Given the description of an element on the screen output the (x, y) to click on. 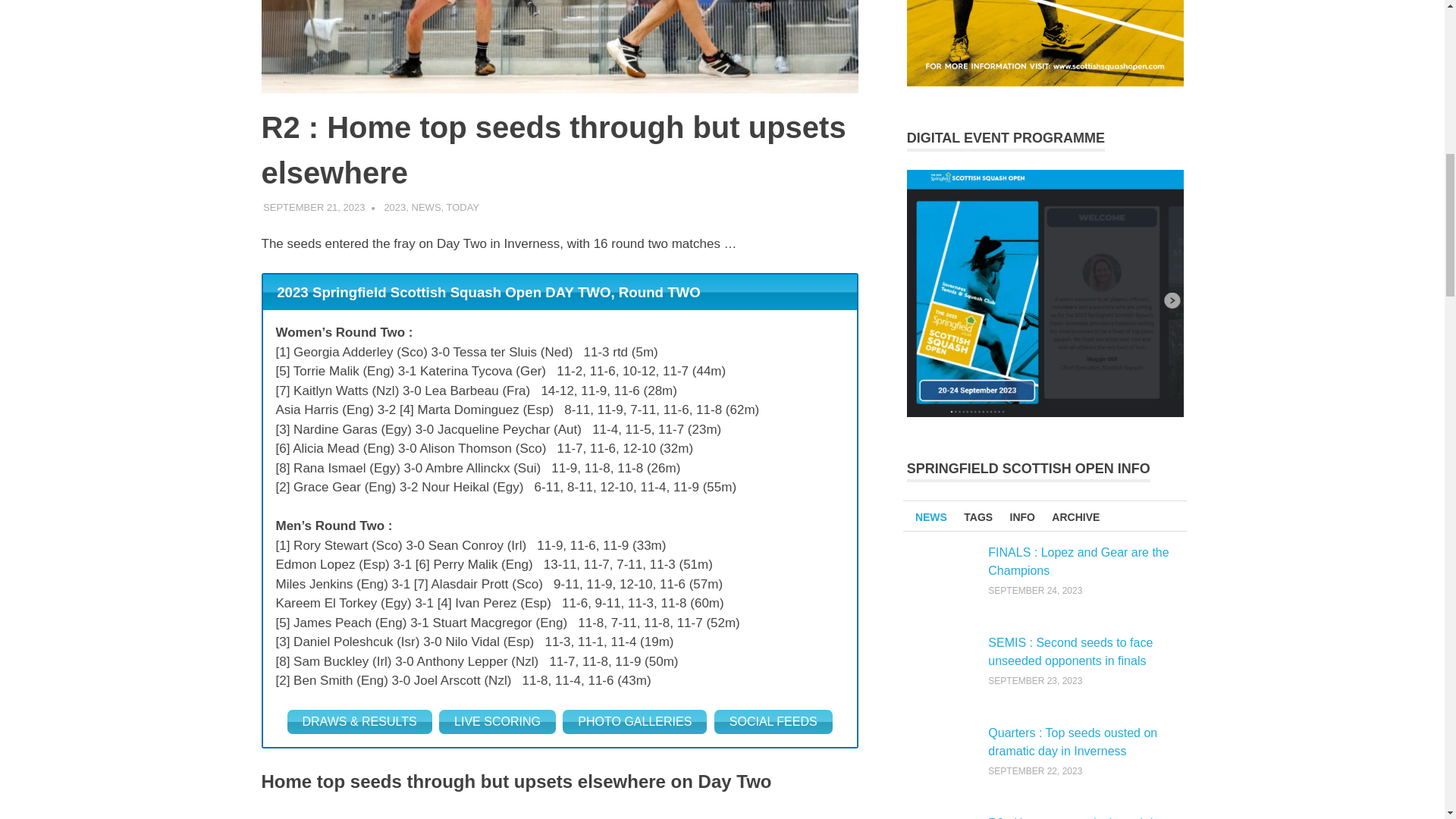
LIVE SCORING (497, 721)
R2 : Home top seeds through but upsets elsewhere (1077, 817)
TODAY (463, 206)
SEPTEMBER 21, 2023 (314, 206)
7:47 am (314, 206)
PHOTO GALLERIES (634, 721)
NEWS (426, 206)
SEMIS : Second seeds to face unseeded opponents in finals (1070, 651)
View all posts by stevecubbins (419, 206)
2023 (395, 206)
FINALS : Lopez and Gear are the Champions (1078, 561)
SOCIAL FEEDS (773, 721)
STEVECUBBINS (419, 206)
Quarters : Top seeds ousted on dramatic day in Inverness (1072, 741)
